Given the description of an element on the screen output the (x, y) to click on. 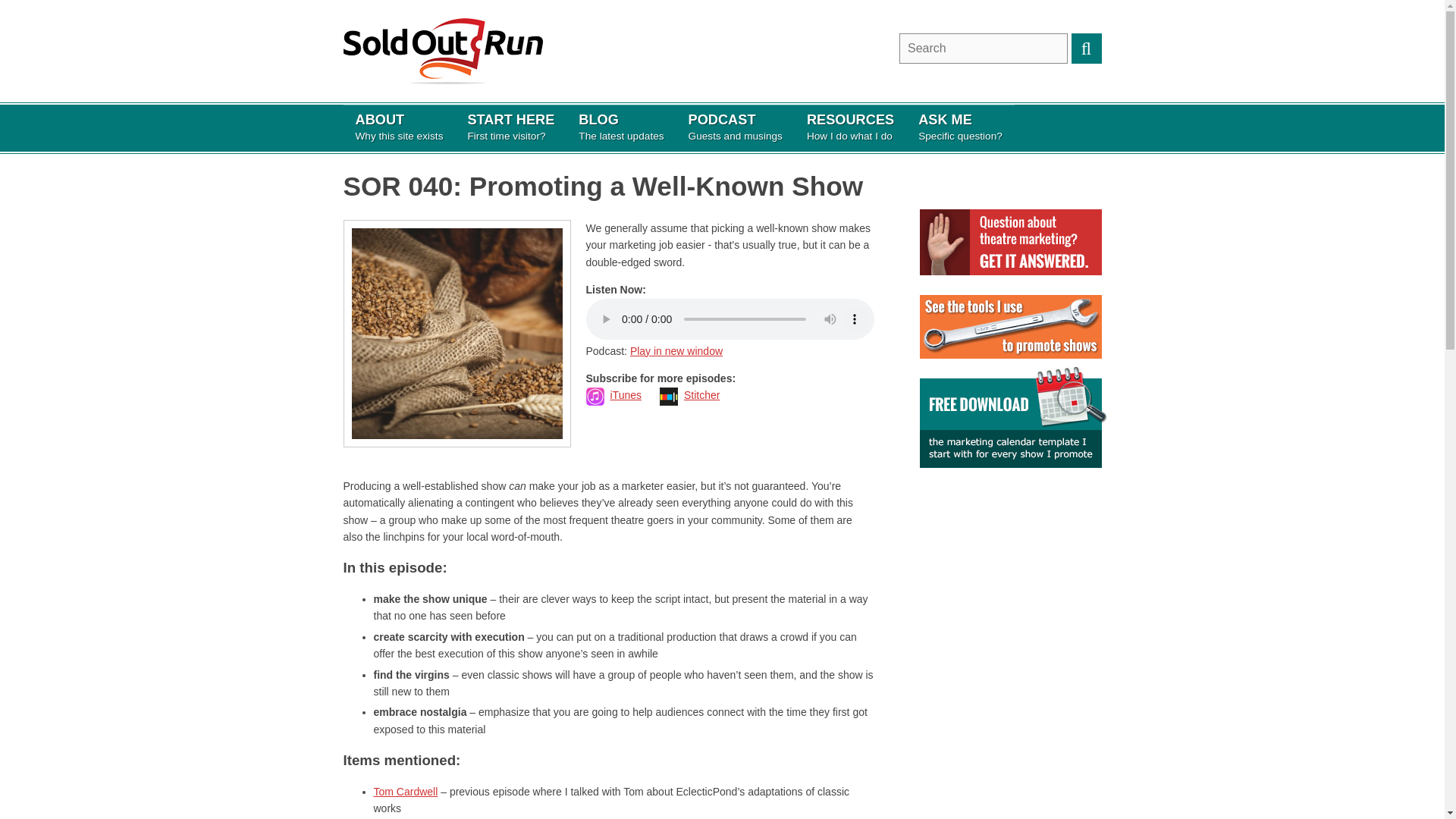
First time visitor? (510, 127)
Search for: (398, 127)
How I do what I do (983, 48)
Play in new window (849, 127)
Specific question? (510, 127)
Sold Out Run (676, 349)
The latest updates (959, 127)
